Given the description of an element on the screen output the (x, y) to click on. 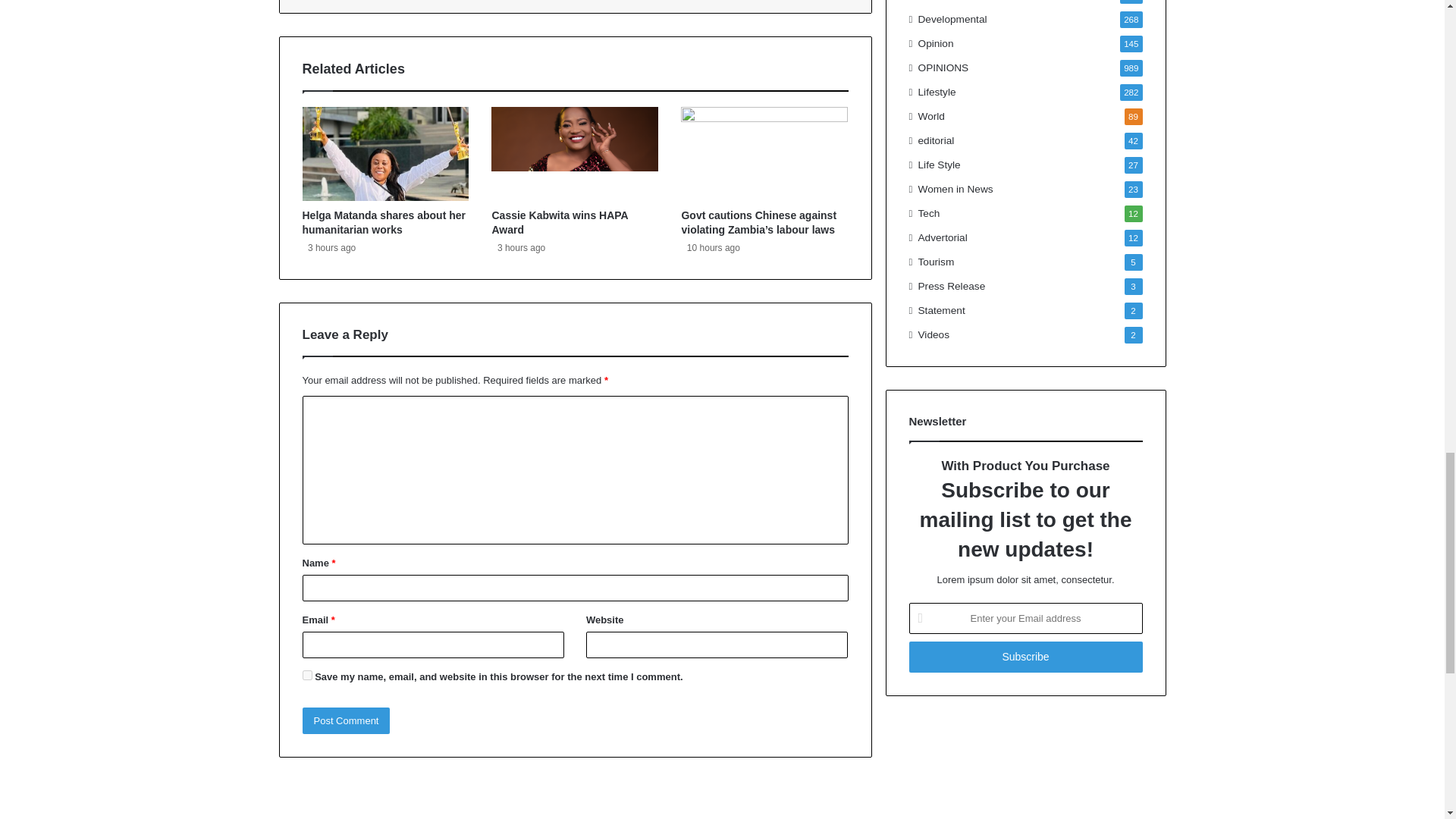
Subscribe (1025, 656)
yes (306, 675)
Post Comment (345, 720)
